Given the description of an element on the screen output the (x, y) to click on. 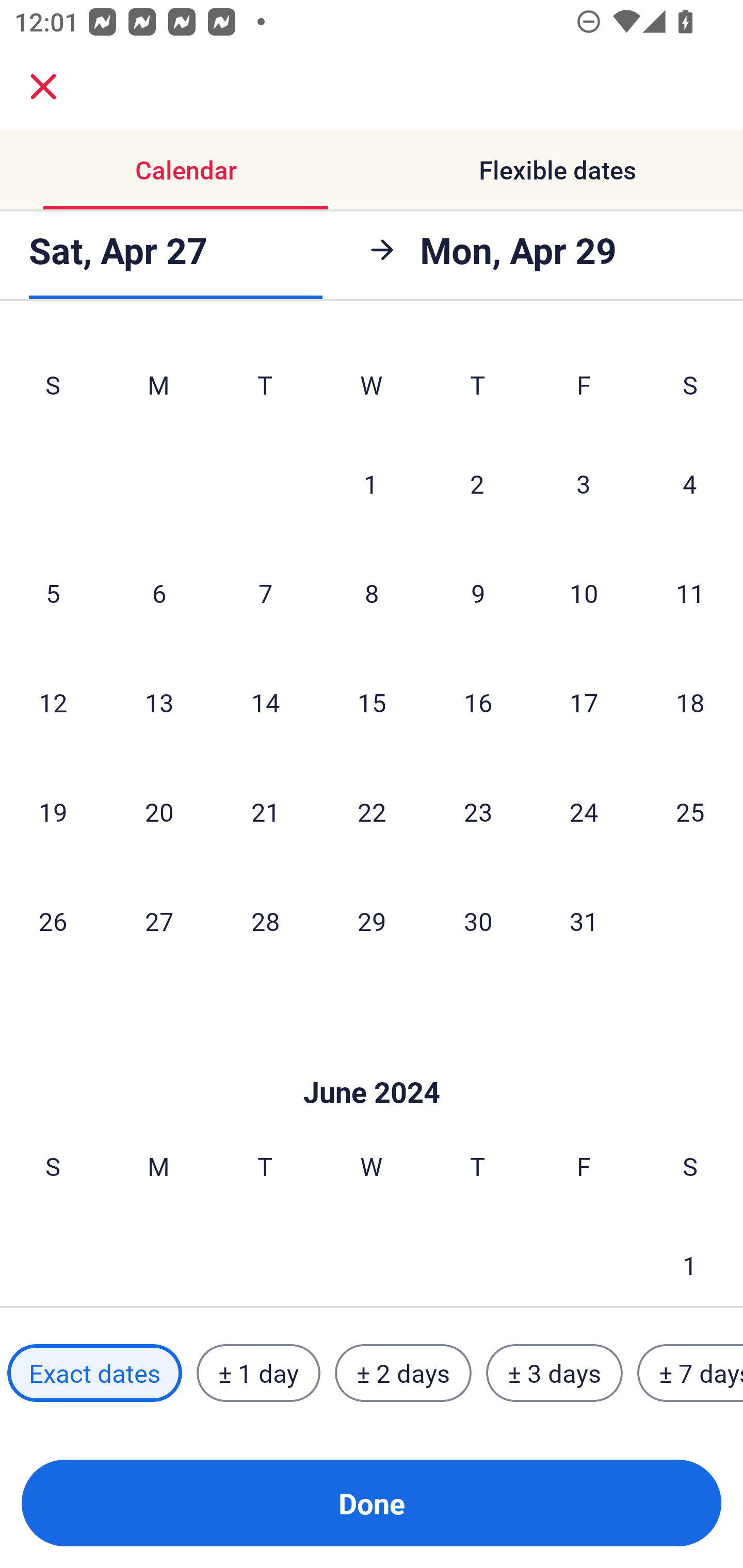
close. (43, 86)
Flexible dates (557, 170)
1 Wednesday, May 1, 2024 (371, 483)
2 Thursday, May 2, 2024 (477, 483)
3 Friday, May 3, 2024 (583, 483)
4 Saturday, May 4, 2024 (689, 483)
5 Sunday, May 5, 2024 (53, 592)
6 Monday, May 6, 2024 (159, 592)
7 Tuesday, May 7, 2024 (265, 592)
8 Wednesday, May 8, 2024 (371, 592)
9 Thursday, May 9, 2024 (477, 592)
10 Friday, May 10, 2024 (584, 592)
11 Saturday, May 11, 2024 (690, 592)
12 Sunday, May 12, 2024 (53, 702)
13 Monday, May 13, 2024 (159, 702)
14 Tuesday, May 14, 2024 (265, 702)
15 Wednesday, May 15, 2024 (371, 702)
16 Thursday, May 16, 2024 (477, 702)
17 Friday, May 17, 2024 (584, 702)
18 Saturday, May 18, 2024 (690, 702)
19 Sunday, May 19, 2024 (53, 810)
20 Monday, May 20, 2024 (159, 810)
21 Tuesday, May 21, 2024 (265, 810)
22 Wednesday, May 22, 2024 (371, 810)
23 Thursday, May 23, 2024 (477, 810)
24 Friday, May 24, 2024 (584, 810)
25 Saturday, May 25, 2024 (690, 810)
26 Sunday, May 26, 2024 (53, 920)
27 Monday, May 27, 2024 (159, 920)
28 Tuesday, May 28, 2024 (265, 920)
29 Wednesday, May 29, 2024 (371, 920)
30 Thursday, May 30, 2024 (477, 920)
31 Friday, May 31, 2024 (584, 920)
Skip to Done (371, 1061)
1 Saturday, June 1, 2024 (689, 1259)
Exact dates (94, 1372)
± 1 day (258, 1372)
± 2 days (403, 1372)
± 3 days (553, 1372)
± 7 days (690, 1372)
Done (371, 1502)
